Given the description of an element on the screen output the (x, y) to click on. 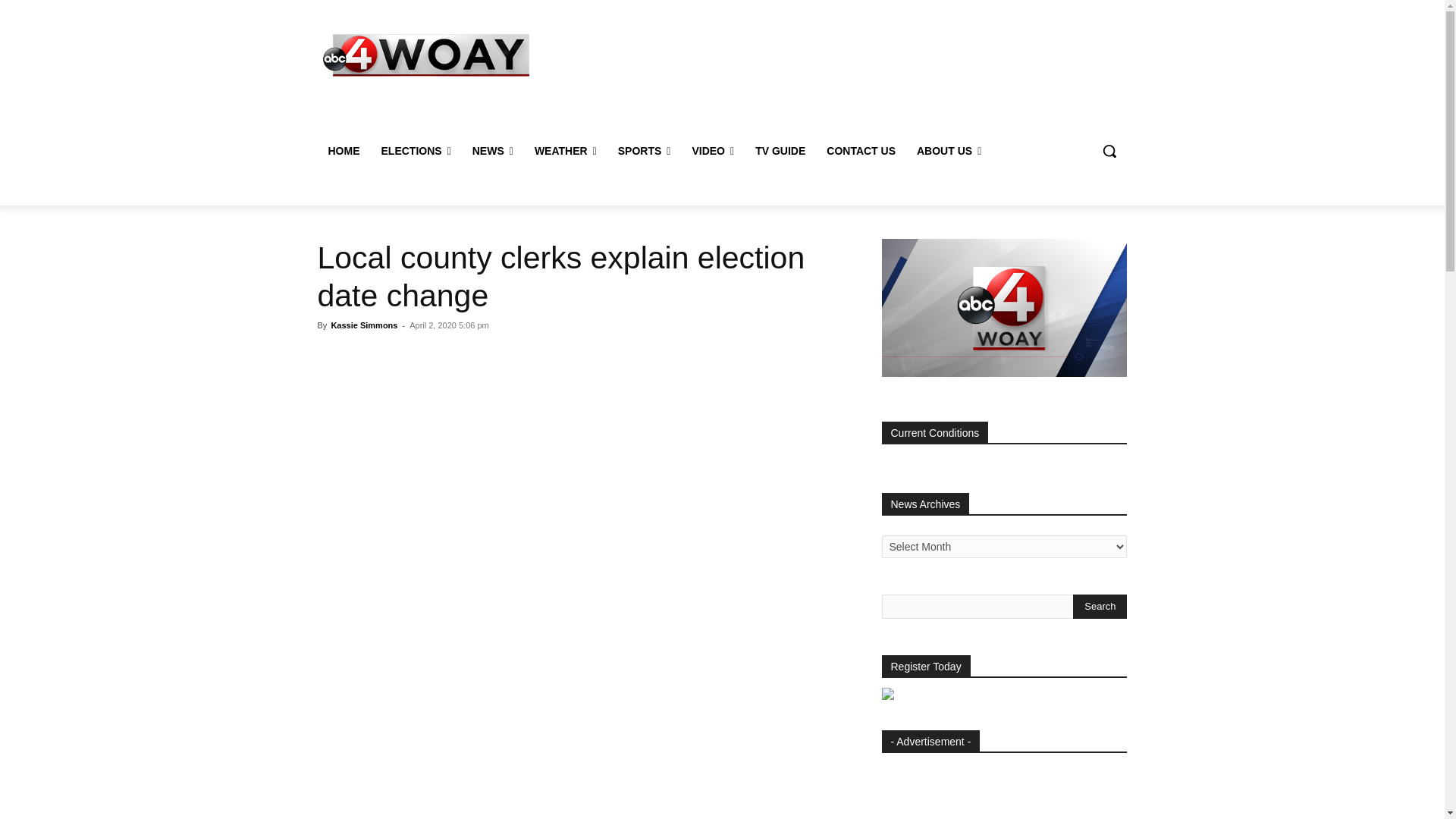
Search (1099, 606)
WOAY News (426, 55)
WOAY News (425, 55)
